Given the description of an element on the screen output the (x, y) to click on. 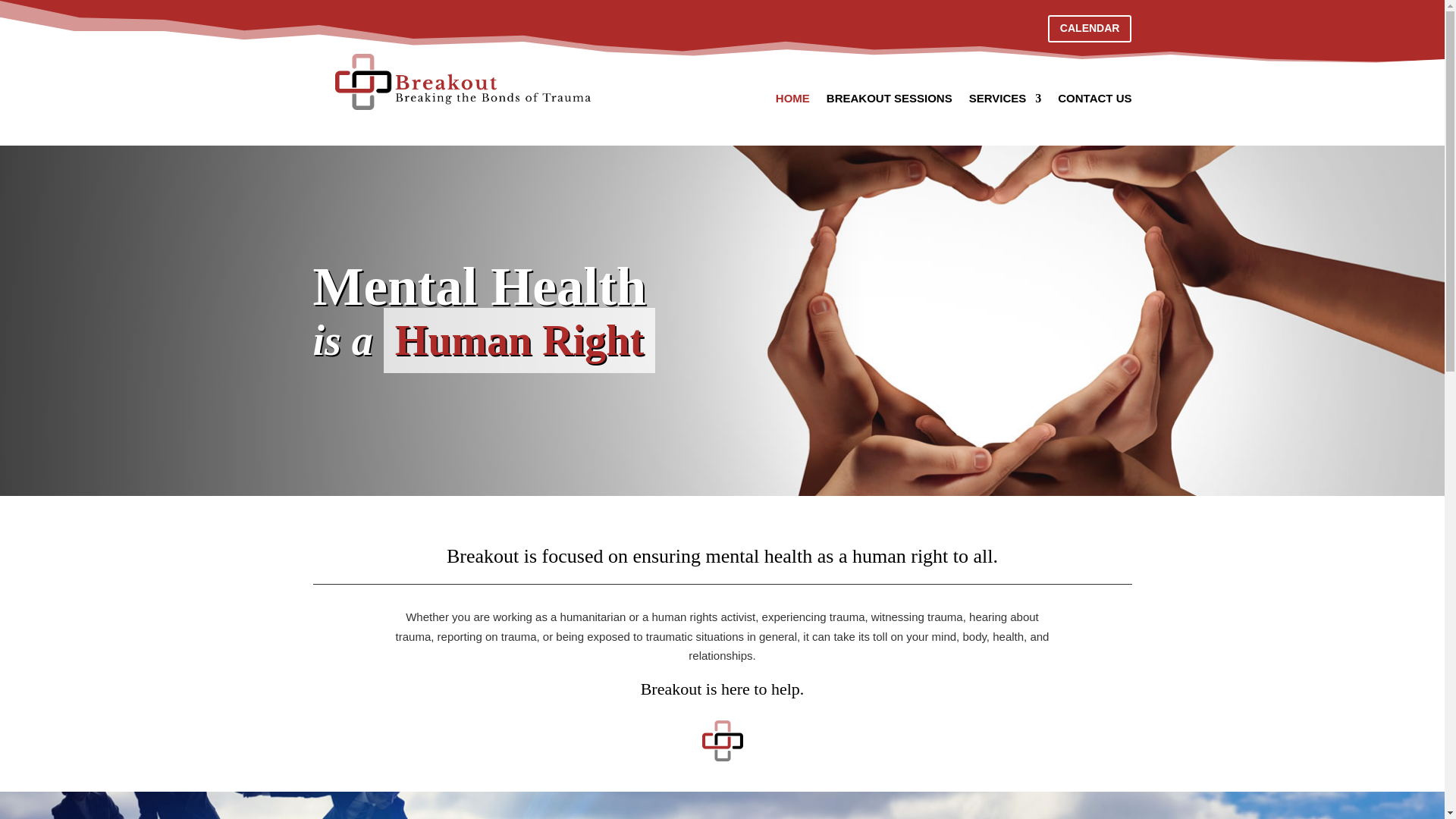
SERVICES (1005, 101)
BREAKOUT SESSIONS (889, 101)
CONTACT US (1094, 101)
CALENDAR (1090, 28)
Logo-braid (721, 740)
Breakout-Horizontal-Logo (462, 81)
HOME (792, 101)
